Given the description of an element on the screen output the (x, y) to click on. 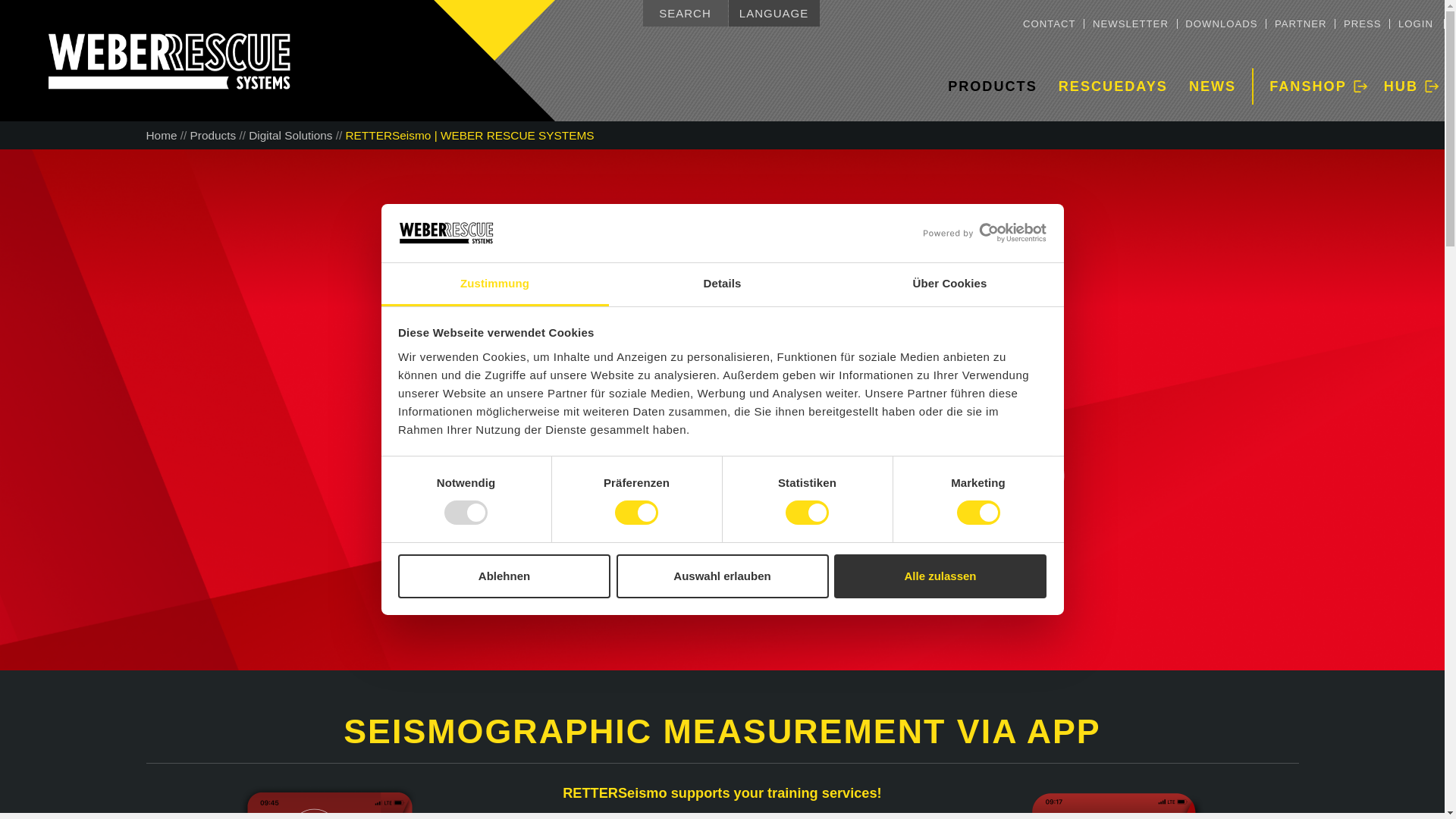
SEARCH (685, 13)
Ablehnen (503, 576)
Zustimmung (494, 284)
Details (721, 284)
To home page (216, 60)
Auswahl erlauben (721, 576)
Alle zulassen (940, 576)
